Given the description of an element on the screen output the (x, y) to click on. 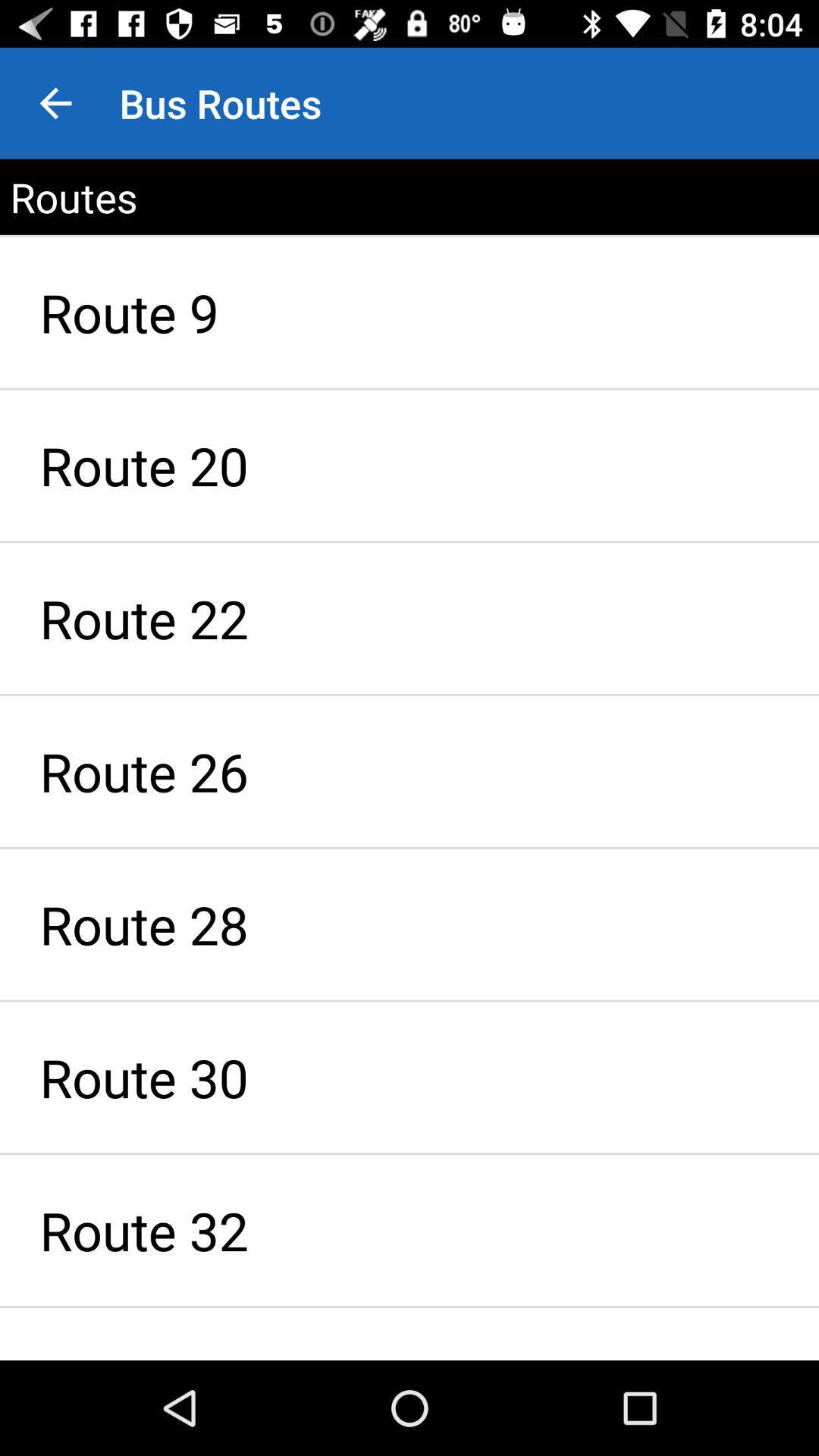
flip until route 26 (409, 771)
